Given the description of an element on the screen output the (x, y) to click on. 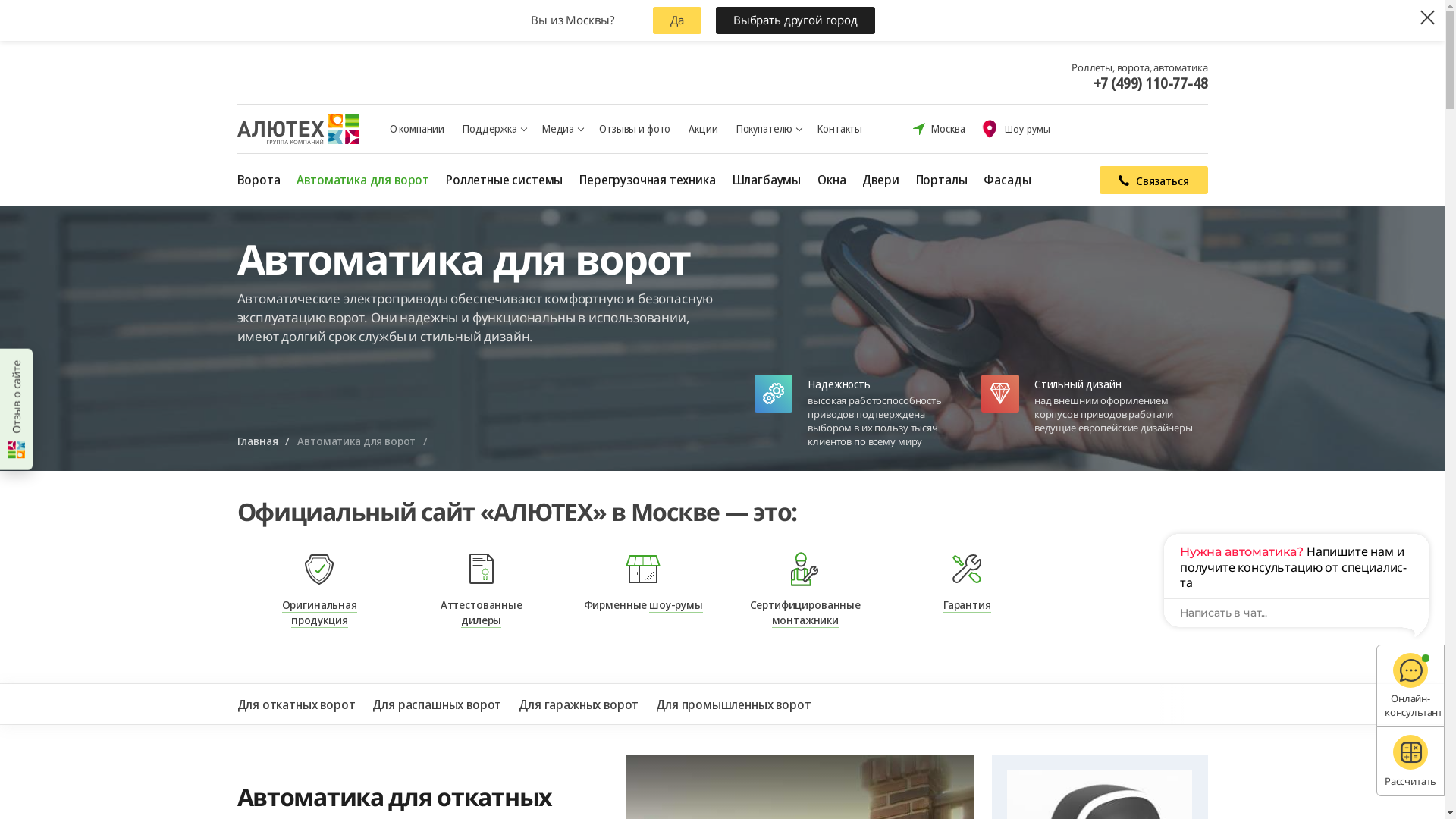
+7 (499) 110-77-48 Element type: text (1150, 83)
